Given the description of an element on the screen output the (x, y) to click on. 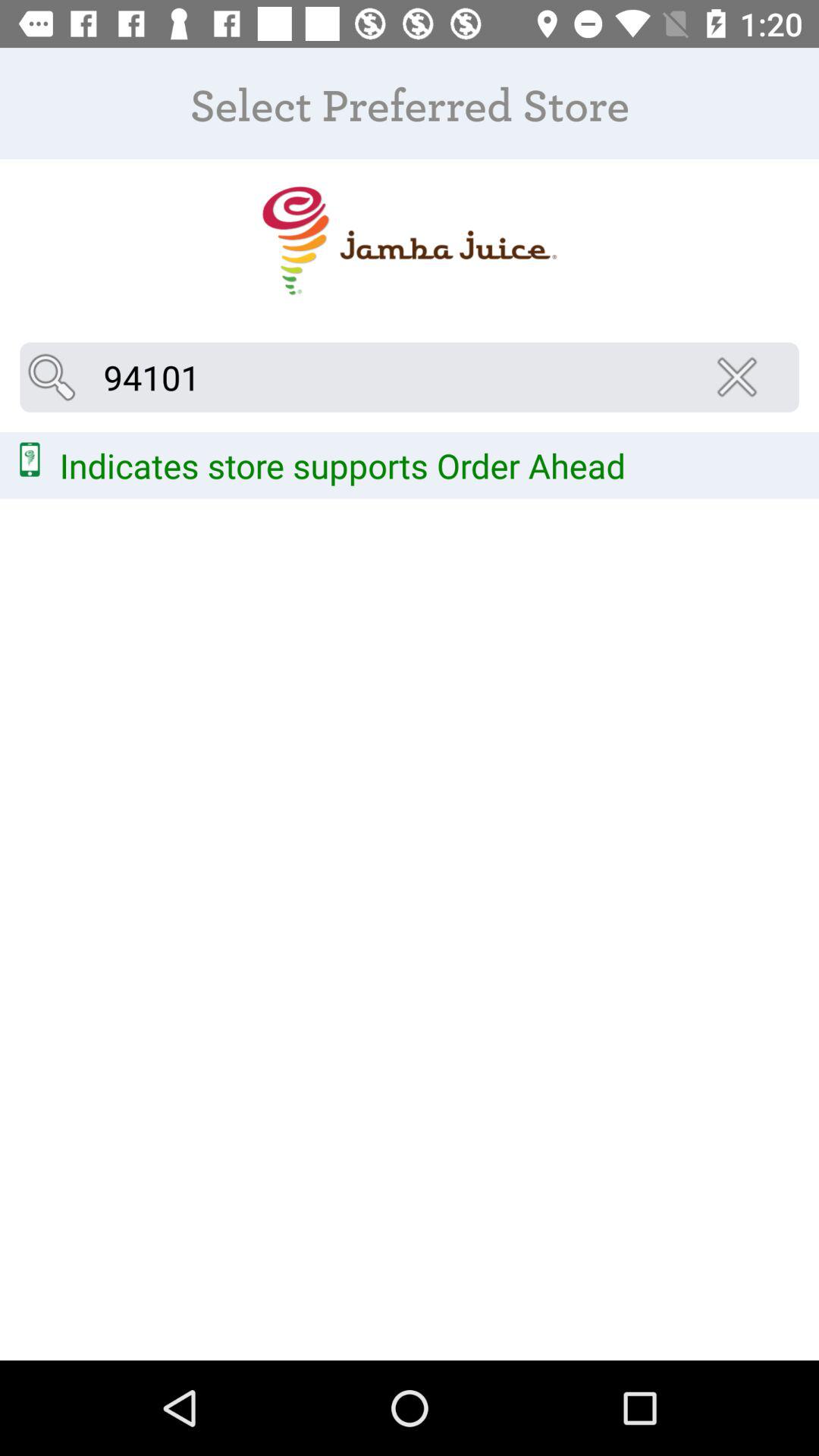
leave the search (742, 376)
